Given the description of an element on the screen output the (x, y) to click on. 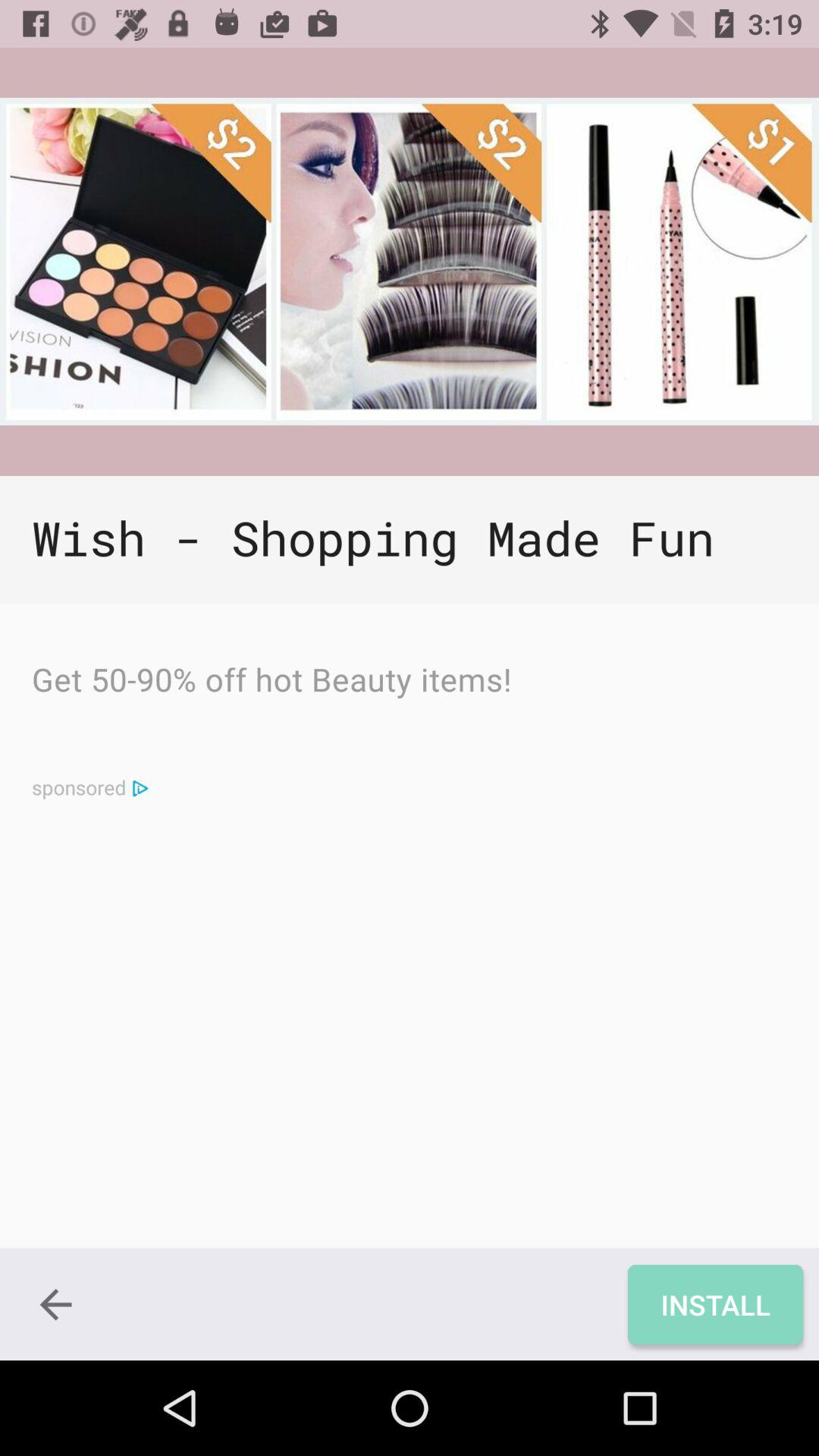
scroll until the wish shopping made (409, 540)
